Given the description of an element on the screen output the (x, y) to click on. 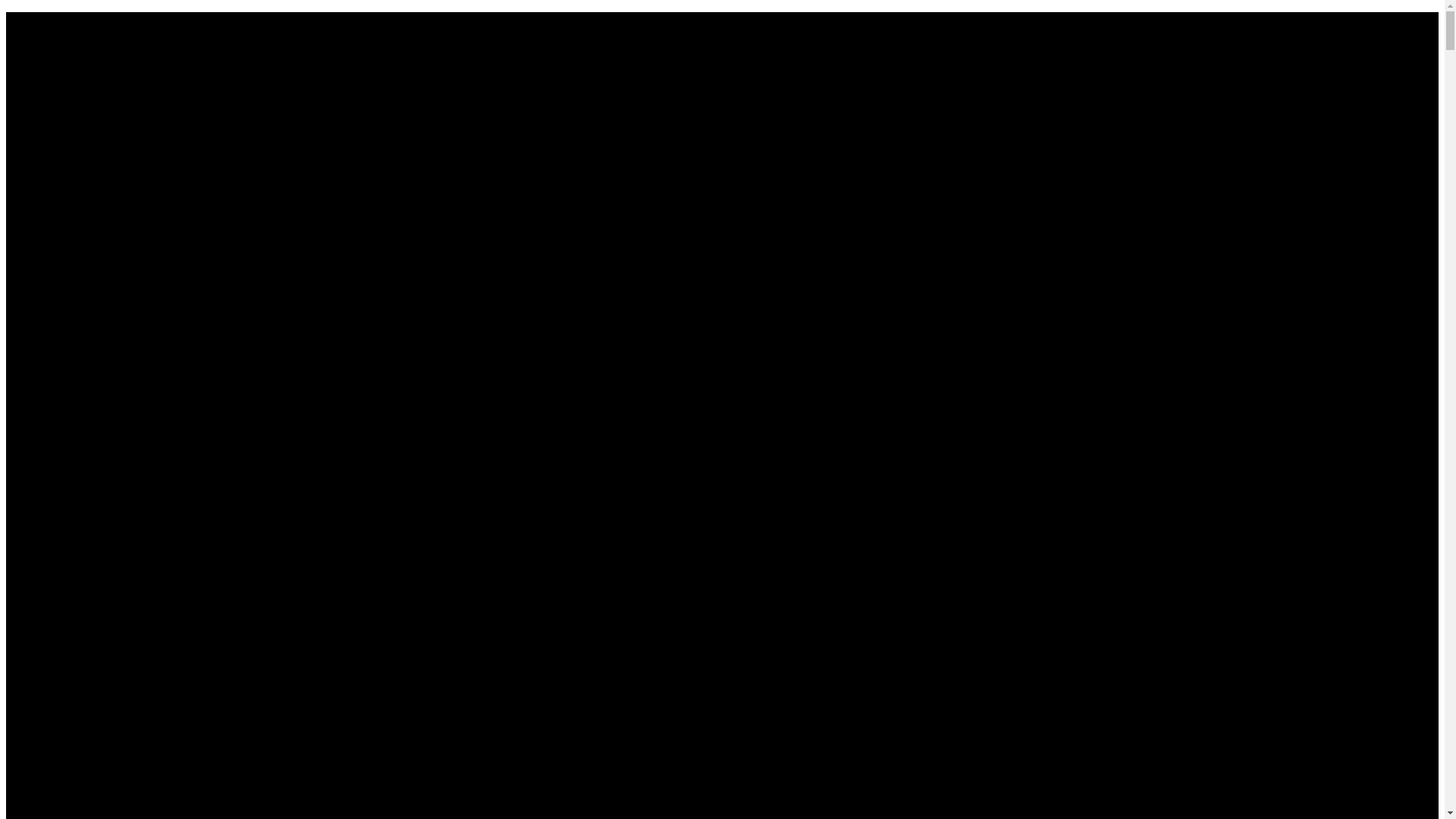
Home Element type: text (50, 18)
Galerie Element type: text (54, 72)
Atelier Ceramia Element type: text (75, 100)
Verschiedene Arbeiten und Experimente Element type: text (164, 127)
Matte Kristallglasuren Element type: text (120, 113)
Kristallglasuren Element type: text (105, 100)
Kontakt Element type: text (55, 113)
